Given the description of an element on the screen output the (x, y) to click on. 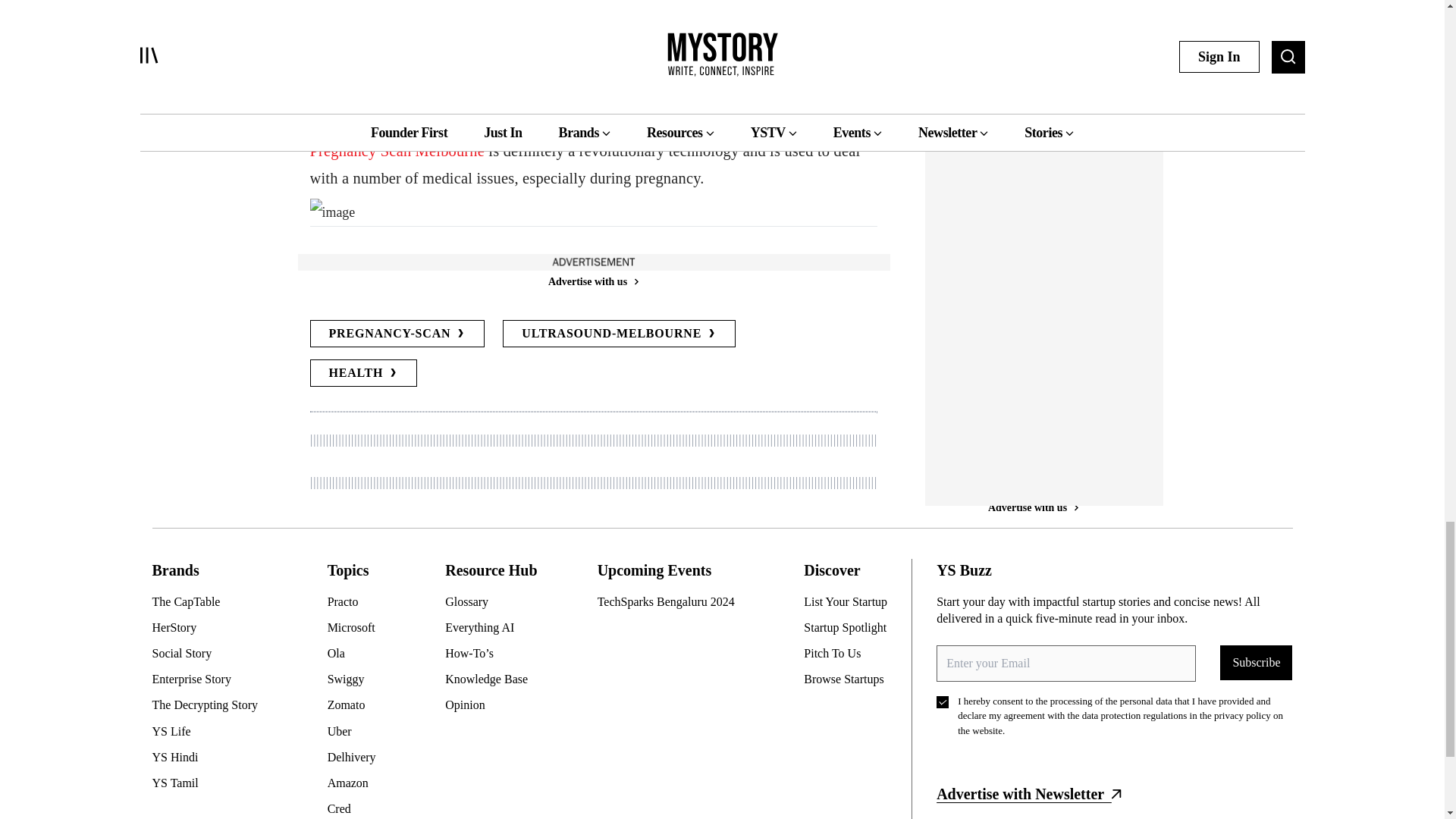
Advertise with us (1032, 256)
Pregnancy Scan Melbourne (396, 150)
ULTRASOUND-MELBOURNE (618, 333)
HEALTH (362, 372)
Pregnancy ultrasound Melbourne (571, 94)
PREGNANCY-SCAN (396, 333)
Advertise with us (592, 281)
